Given the description of an element on the screen output the (x, y) to click on. 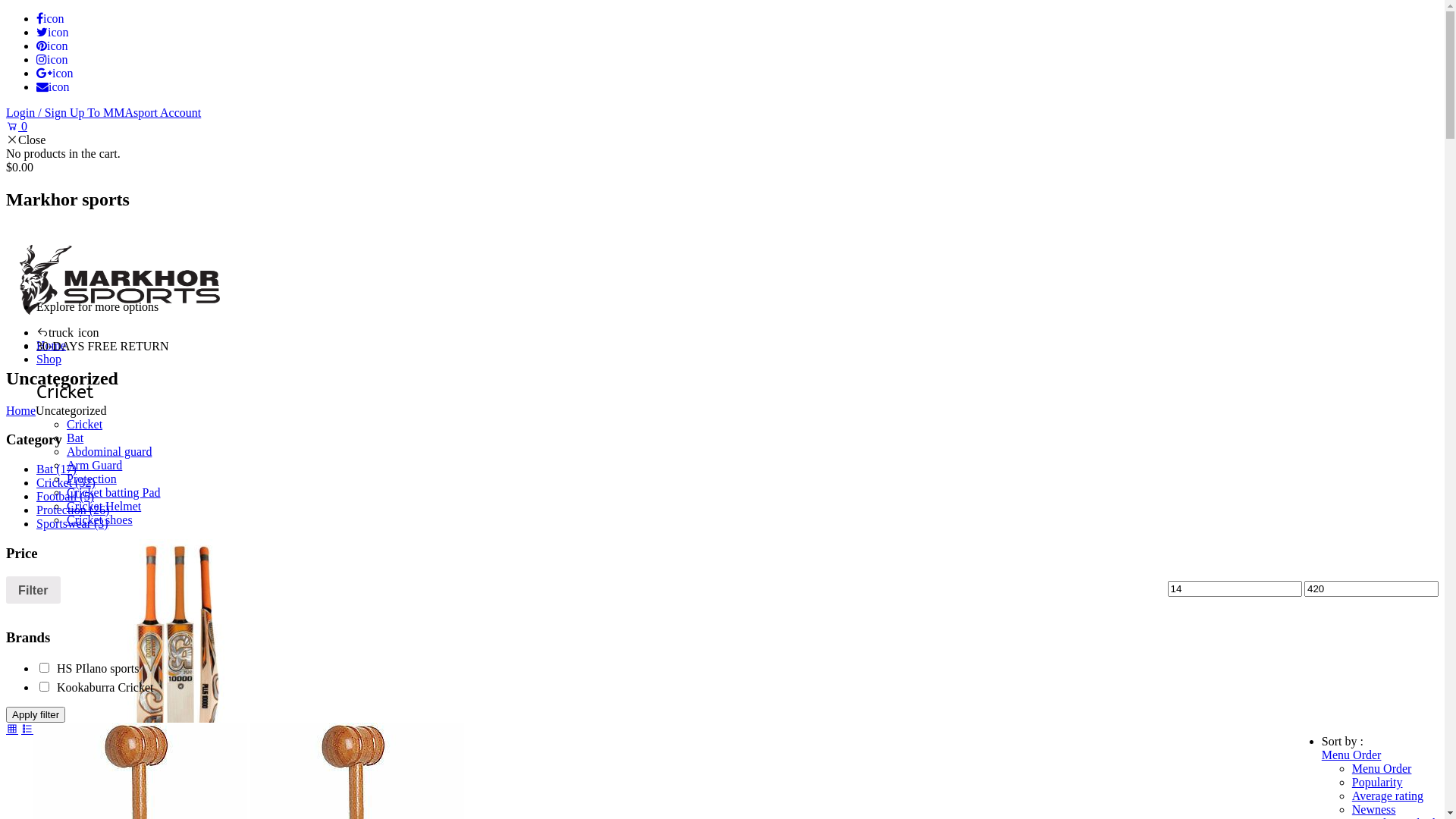
Cricket Element type: text (84, 423)
Cricket (52) Element type: text (65, 482)
icon Element type: text (52, 59)
Home Element type: text (50, 344)
0 Element type: text (16, 125)
Cricket shoes Element type: text (99, 519)
Protection Element type: text (91, 478)
Protection (26) Element type: text (72, 509)
Arm Guard Element type: text (94, 464)
Football (5) Element type: text (65, 495)
Shop Element type: text (48, 358)
icon Element type: text (54, 72)
Sportswear (3) Element type: text (72, 523)
Cricket Helmet Element type: text (103, 505)
Filter Element type: text (33, 589)
Bat Element type: text (74, 437)
icon Element type: text (50, 18)
icon Element type: text (52, 45)
icon Element type: text (52, 86)
Login / Sign Up To MMAsport Account Element type: text (103, 112)
Bat (17) Element type: text (56, 468)
icon Element type: text (52, 31)
Popularity Element type: text (1377, 781)
Home Element type: text (20, 410)
Abdominal guard Element type: text (108, 451)
Menu Order Element type: text (1351, 754)
Apply filter Element type: text (35, 714)
Menu Order Element type: text (1382, 768)
Newness Element type: text (1374, 809)
Cricket batting Pad Element type: text (113, 492)
Average rating Element type: text (1387, 795)
